Given the description of an element on the screen output the (x, y) to click on. 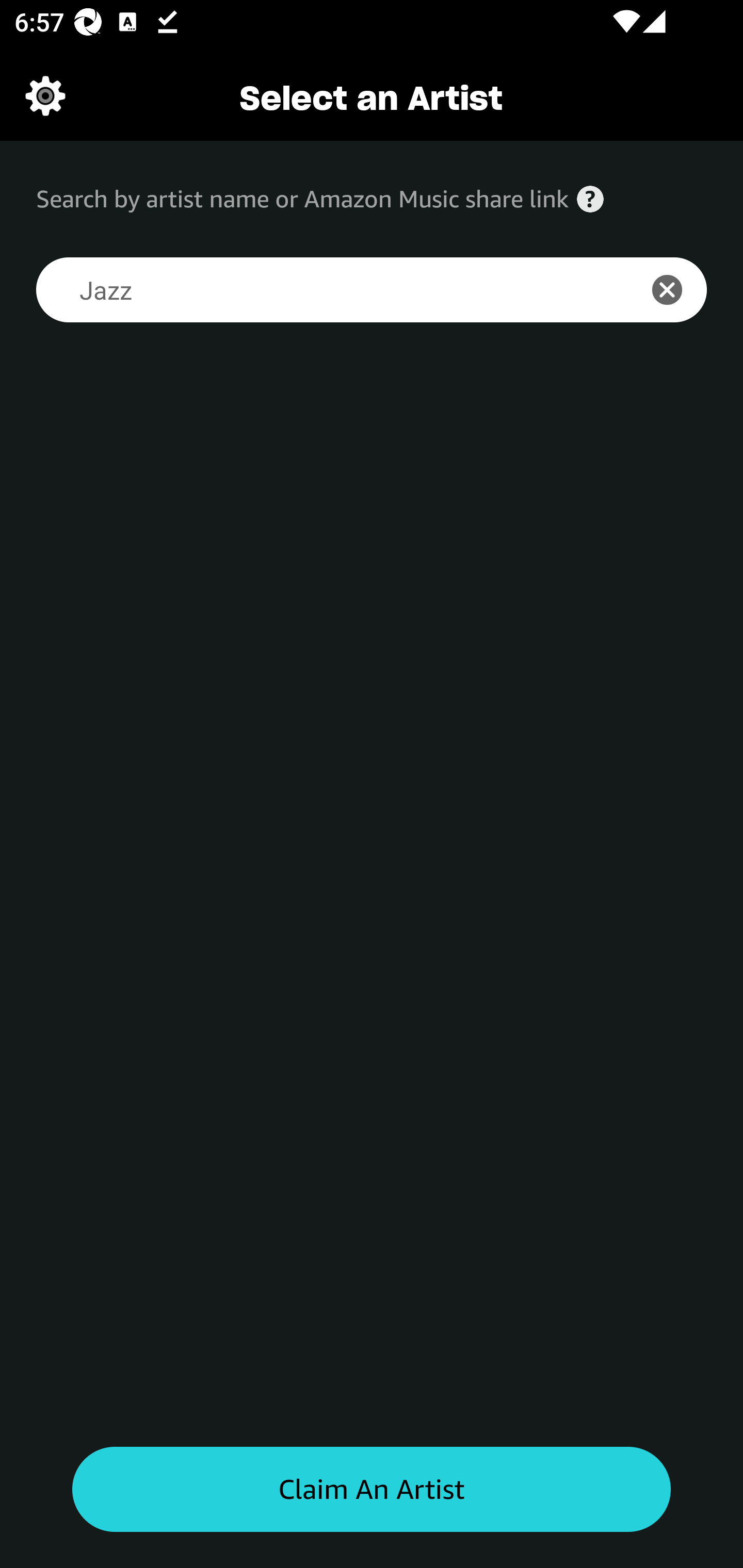
Help  icon (589, 199)
Jazz Search for an artist search bar (324, 290)
 icon (677, 290)
Claim an artist button Claim An Artist (371, 1489)
